Given the description of an element on the screen output the (x, y) to click on. 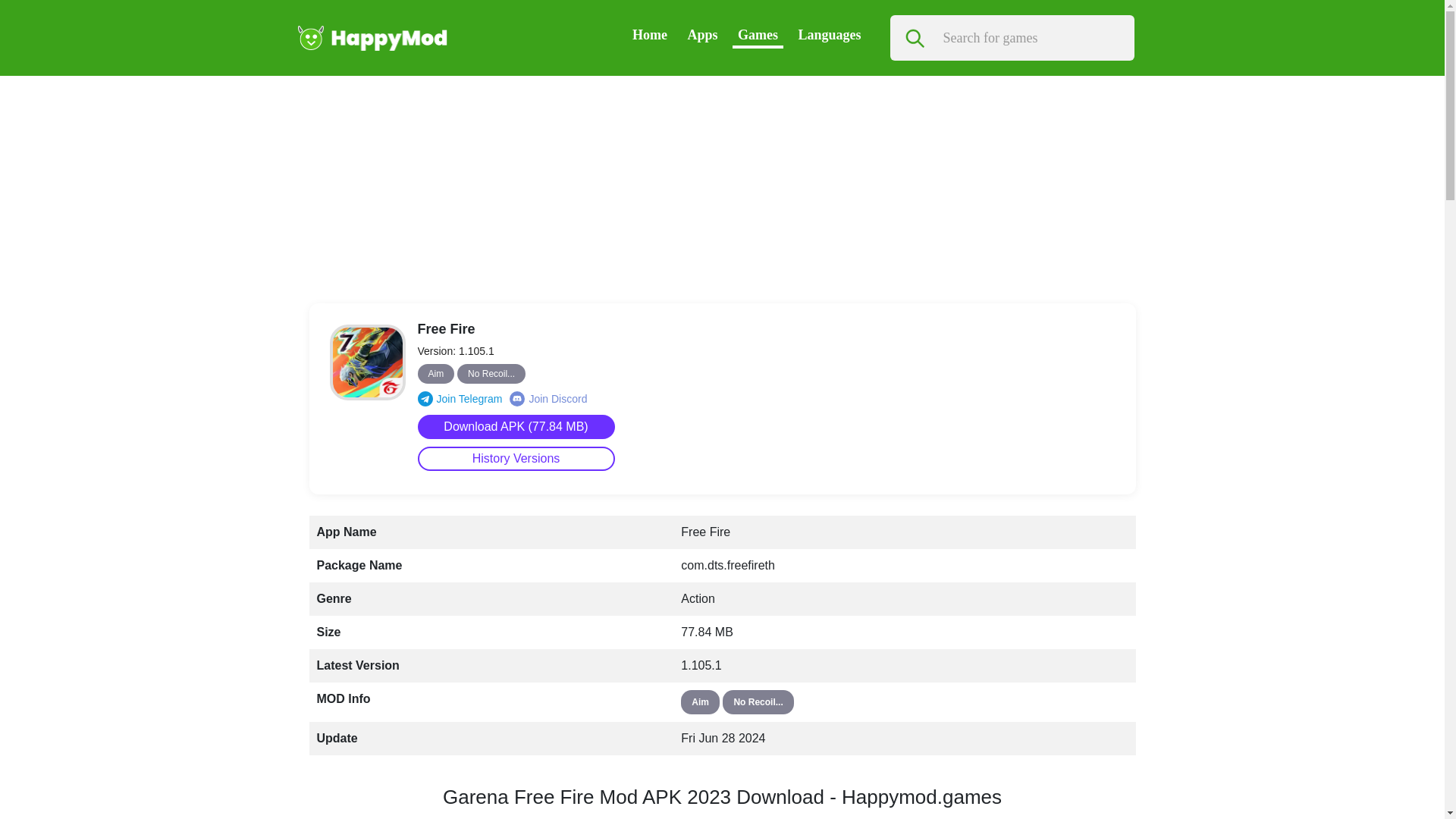
Join Telegram (459, 399)
Home (648, 34)
History Versions (515, 458)
Games (757, 34)
Languages (828, 34)
Apps (702, 34)
Join Discord (547, 399)
